Given the description of an element on the screen output the (x, y) to click on. 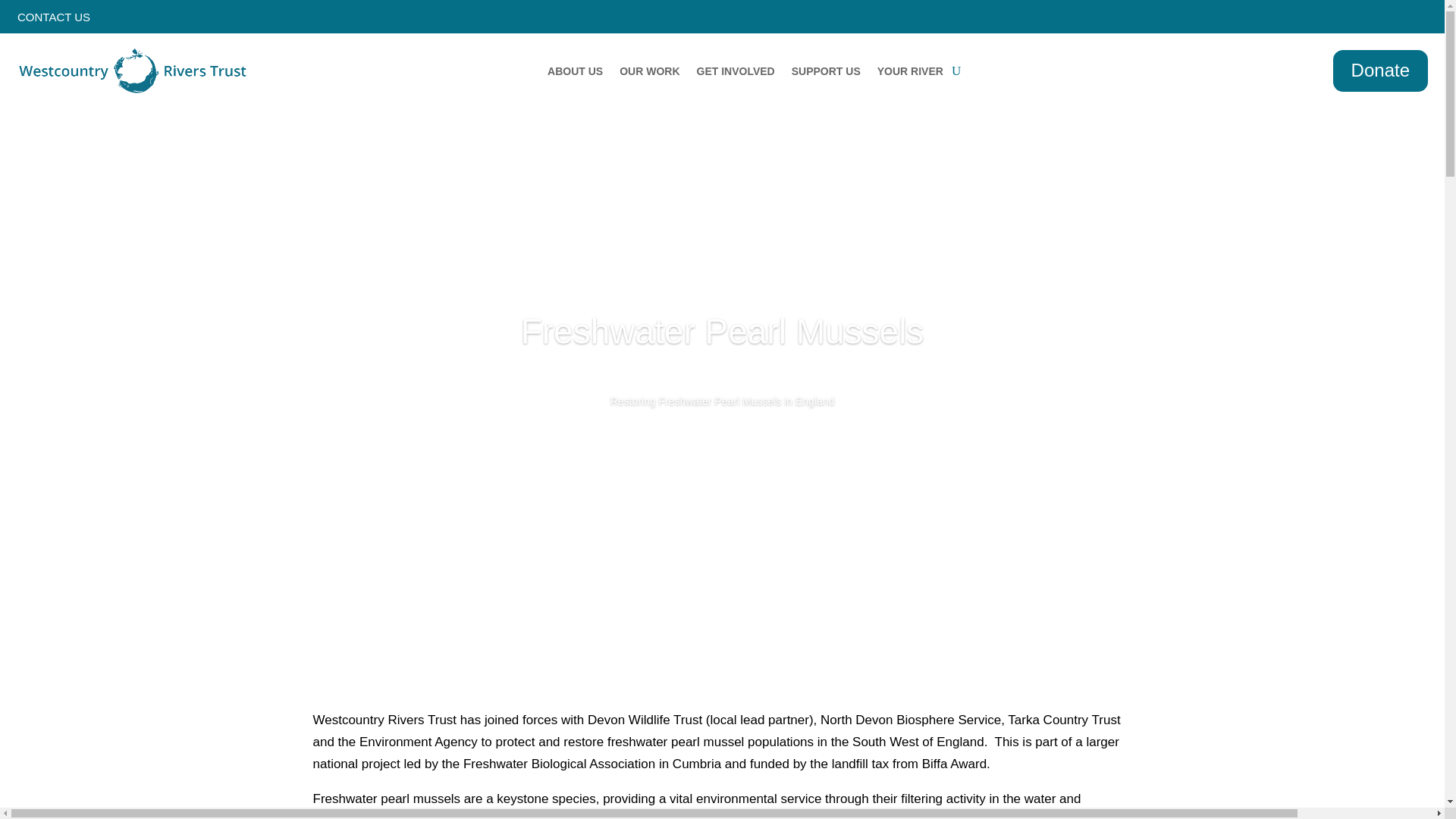
OUR WORK (649, 74)
ABOUT US (574, 74)
CONTACT US  (44, 88)
YOUR RIVER (910, 74)
SUPPORT US (826, 74)
GET INVOLVED (735, 74)
Donate (1380, 70)
SUPPORT US (826, 74)
